Given the description of an element on the screen output the (x, y) to click on. 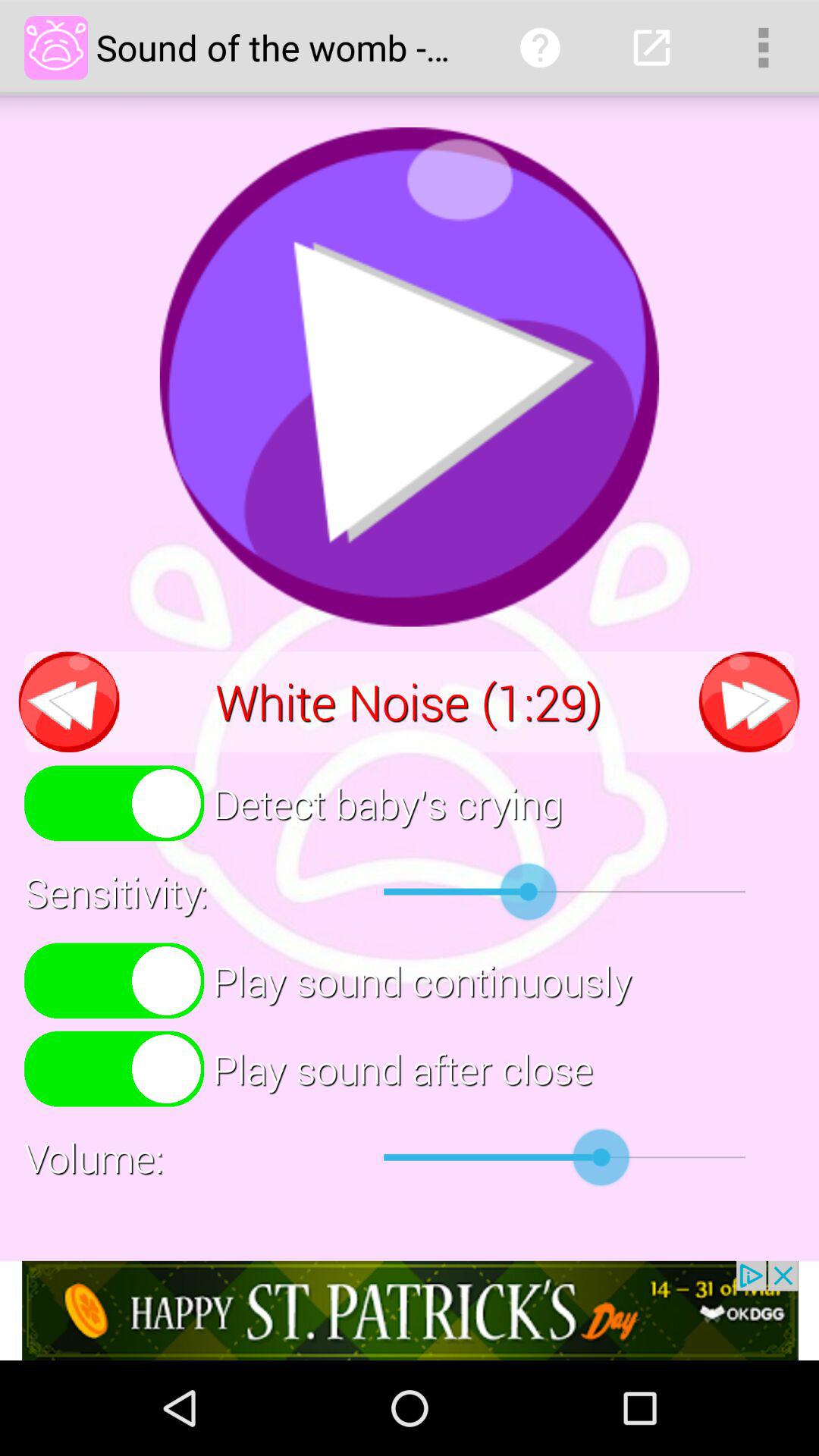
go back to the previous sound (68, 701)
